Given the description of an element on the screen output the (x, y) to click on. 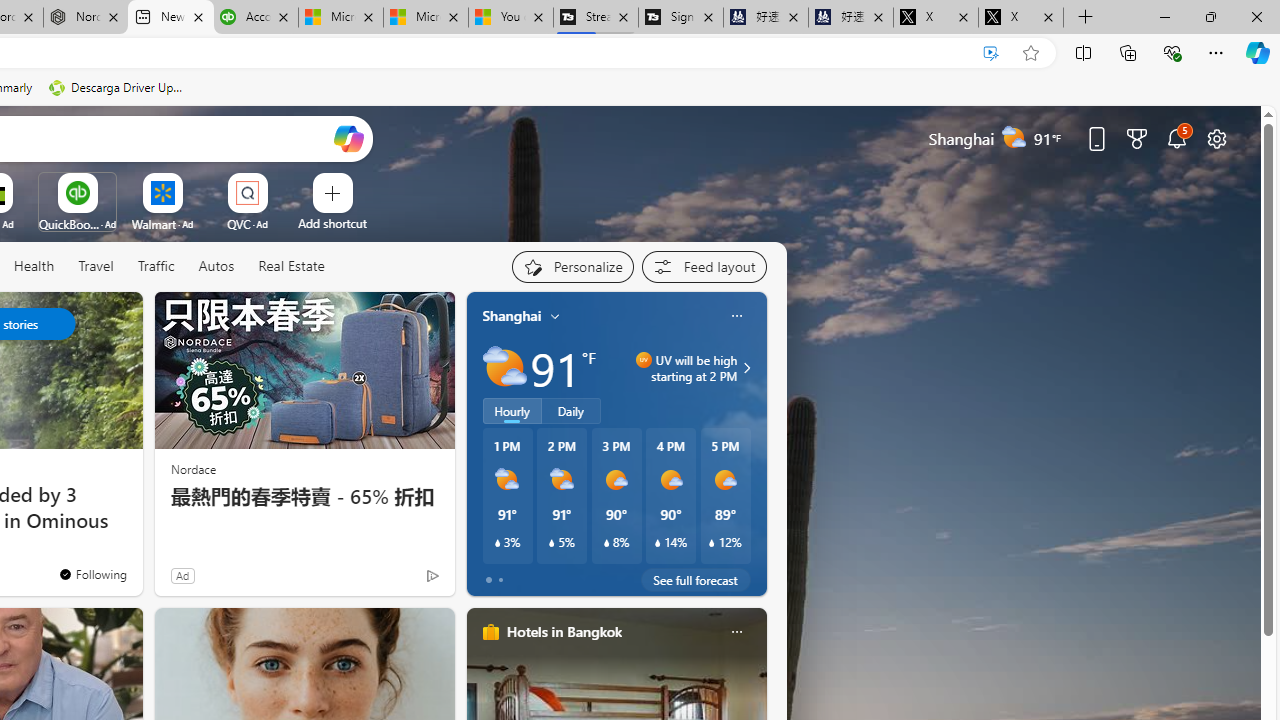
hotels-header-icon (490, 632)
Hotels in Bangkok (563, 631)
Hourly (511, 411)
Autos (216, 267)
Class: weather-arrow-glyph (746, 367)
